Given the description of an element on the screen output the (x, y) to click on. 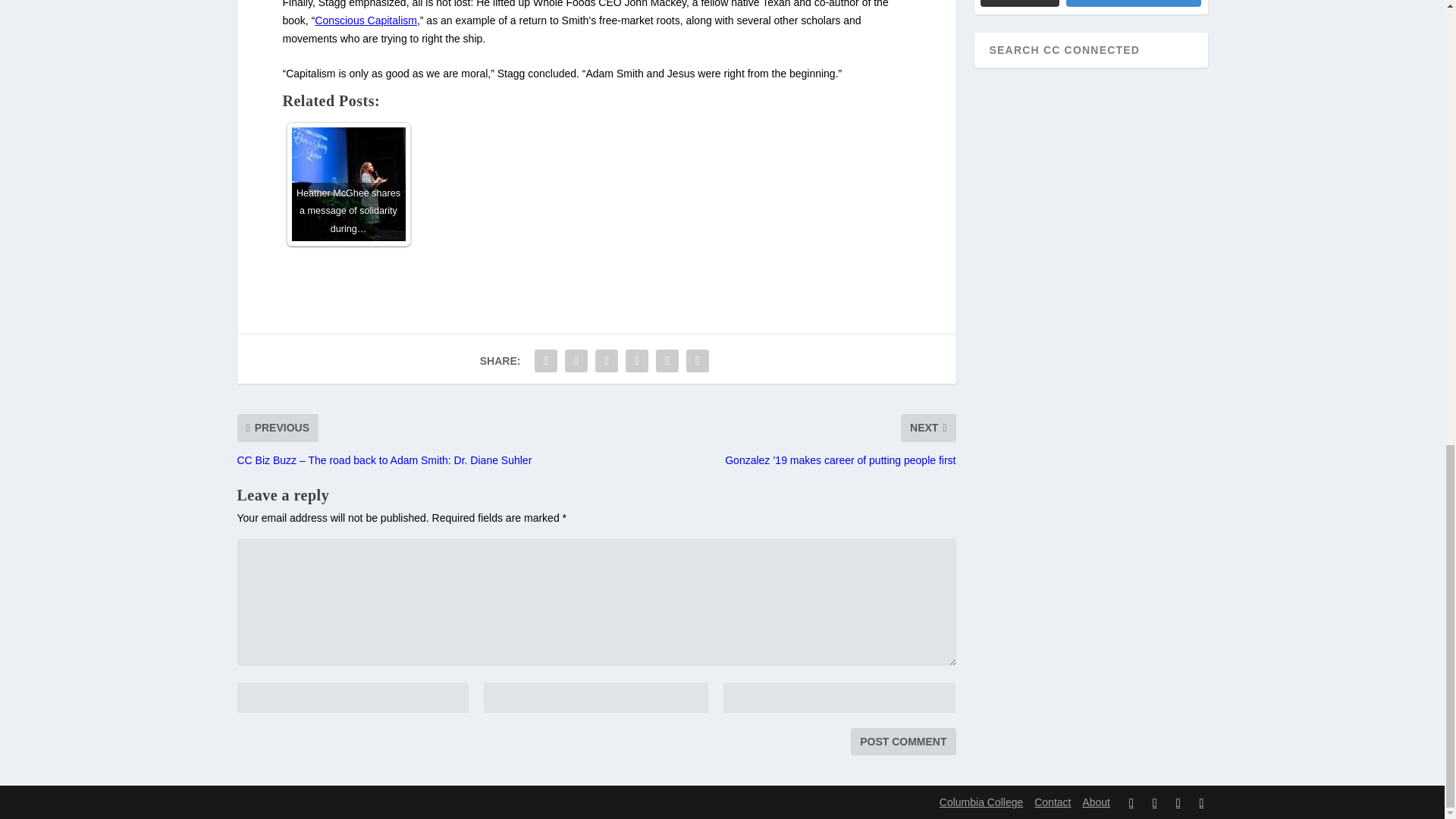
Post Comment (902, 741)
